Given the description of an element on the screen output the (x, y) to click on. 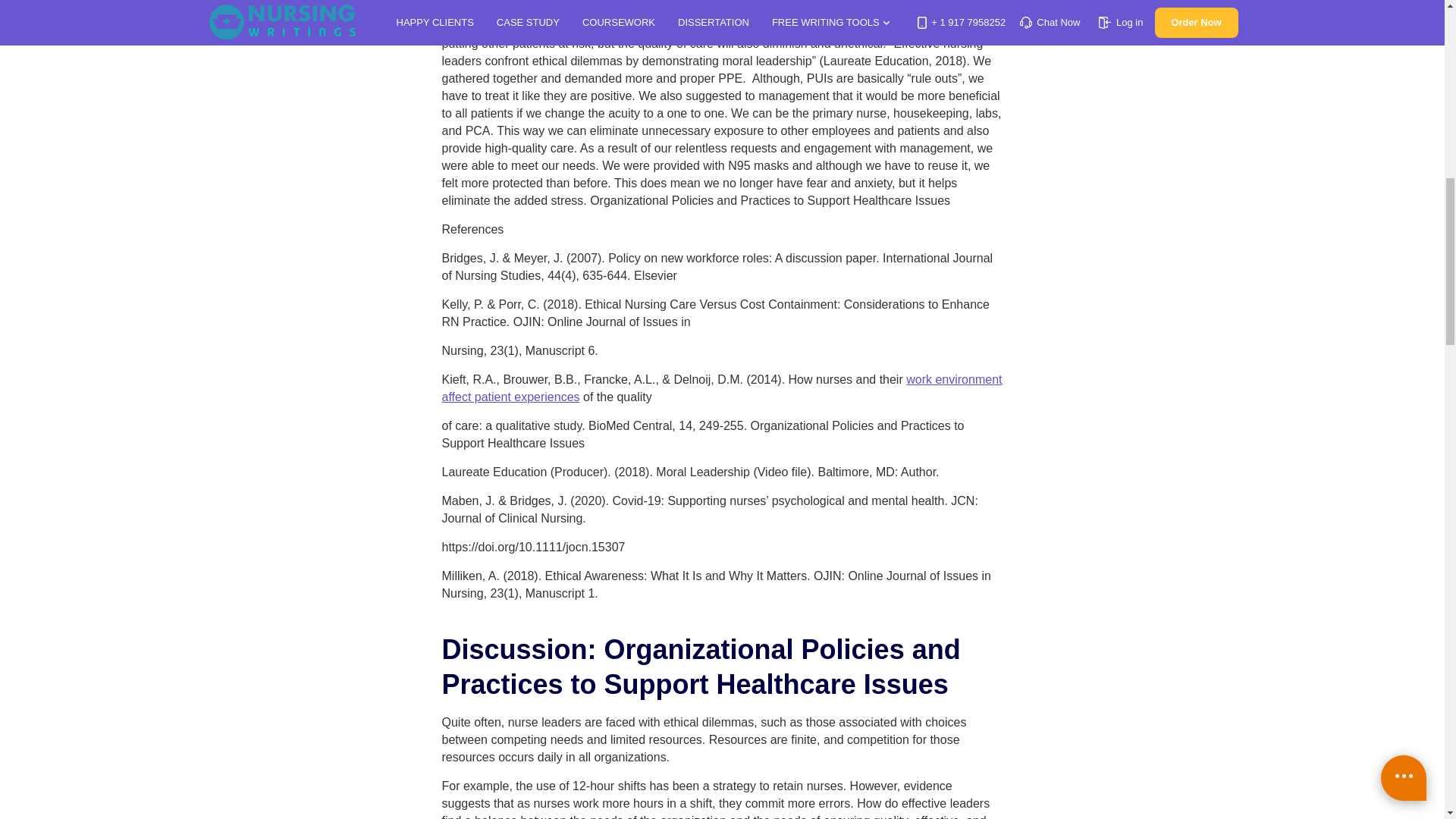
work environment affect patient experiences (721, 388)
